Given the description of an element on the screen output the (x, y) to click on. 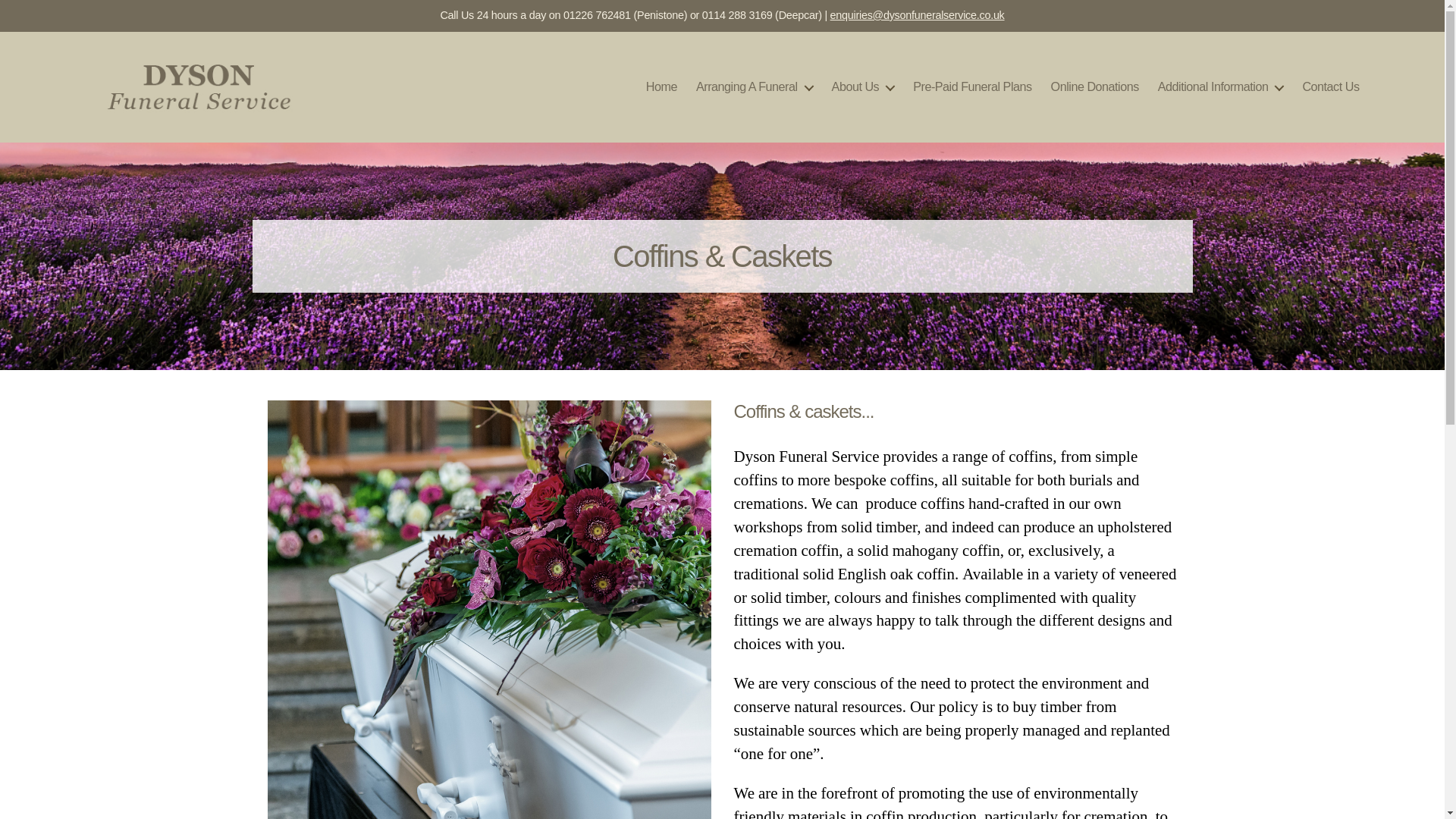
Home (661, 86)
Arranging A Funeral (753, 86)
Additional Information (1220, 86)
About Us (863, 86)
Pre-Paid Funeral Plans (971, 86)
Contact Us (1329, 86)
Online Donations (1094, 86)
